Given the description of an element on the screen output the (x, y) to click on. 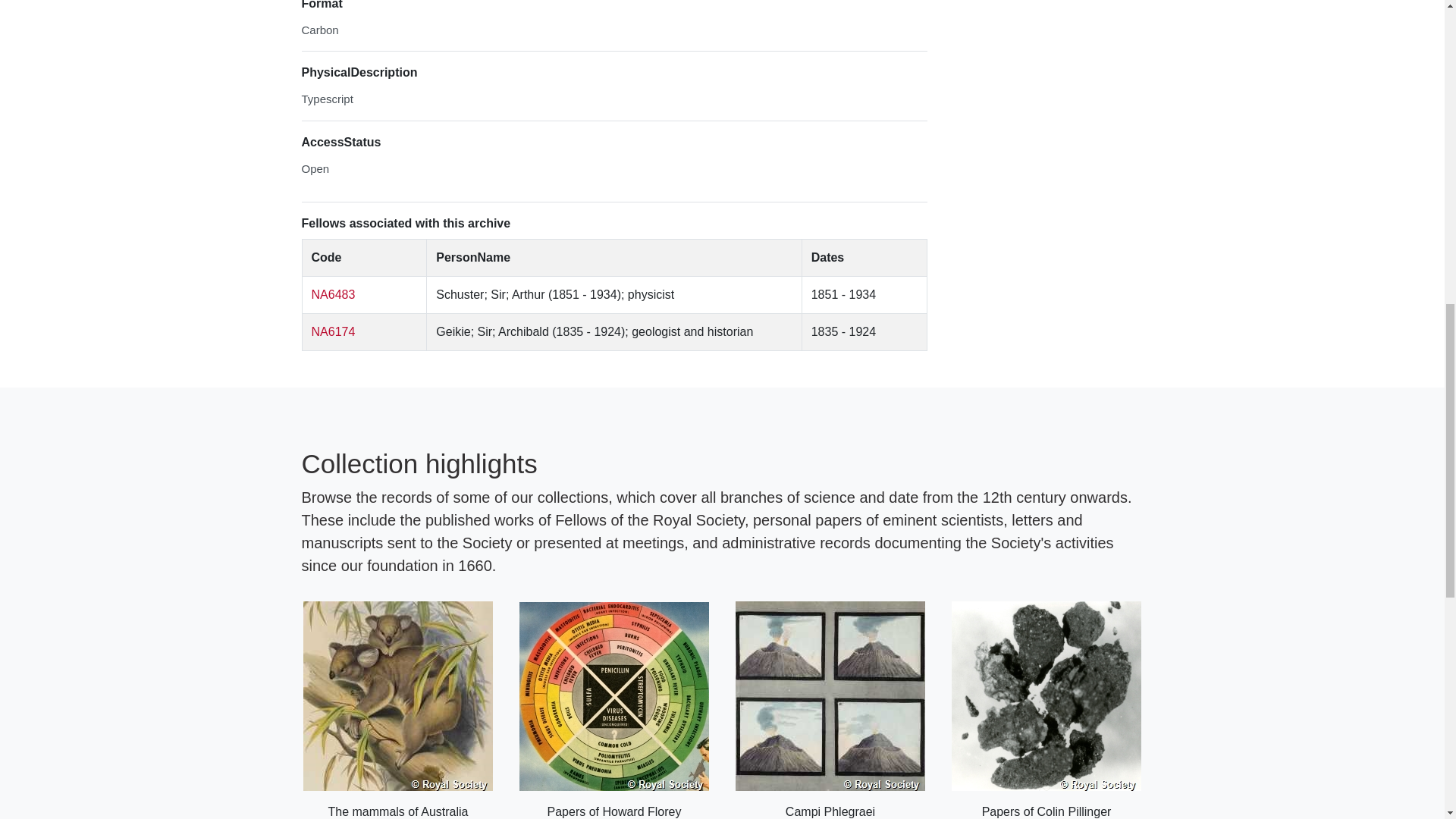
Show related Persons records. (333, 294)
NA6174 (333, 331)
Show related Persons records. (333, 331)
NA6483 (333, 294)
